Given the description of an element on the screen output the (x, y) to click on. 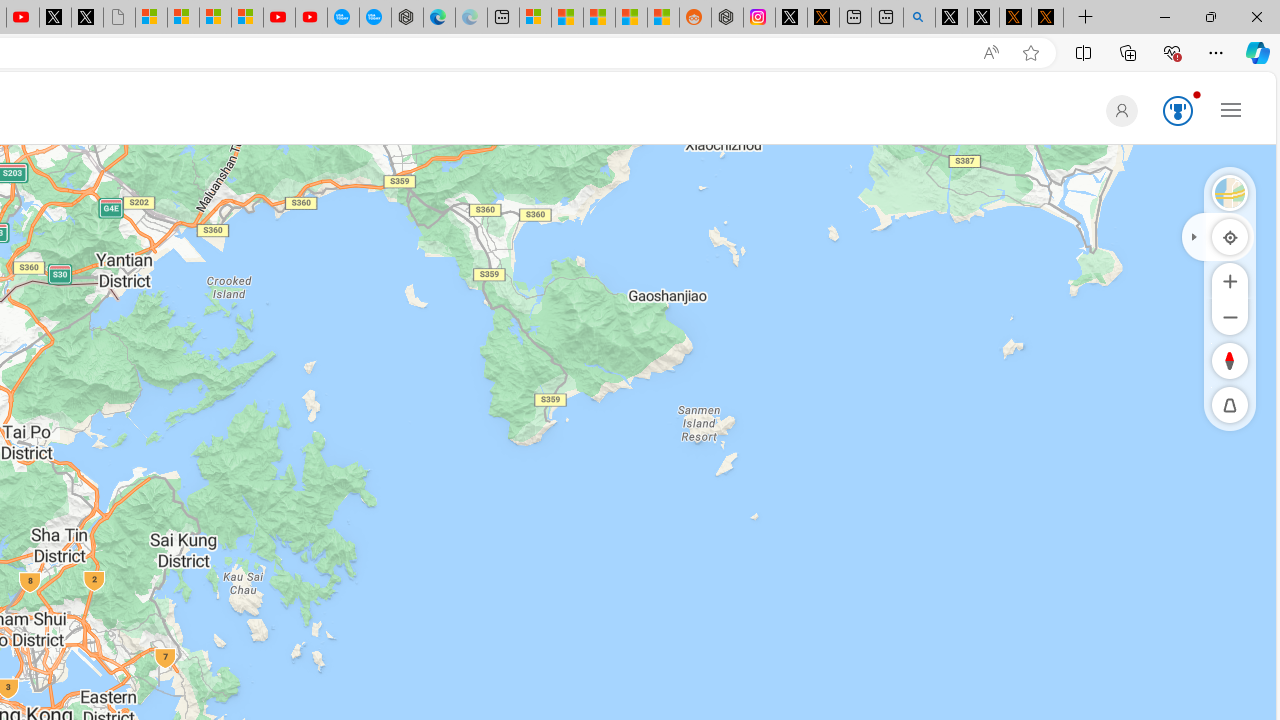
Untitled (118, 17)
Shanghai, China hourly forecast | Microsoft Weather (599, 17)
Satellite (1230, 192)
GitHub (@github) / X (983, 17)
Streetside (1230, 192)
Settings and quick links (1231, 109)
The most popular Google 'how to' searches (374, 17)
github - Search (919, 17)
YouTube Kids - An App Created for Kids to Explore Content (310, 17)
Log in to X / X (791, 17)
